Given the description of an element on the screen output the (x, y) to click on. 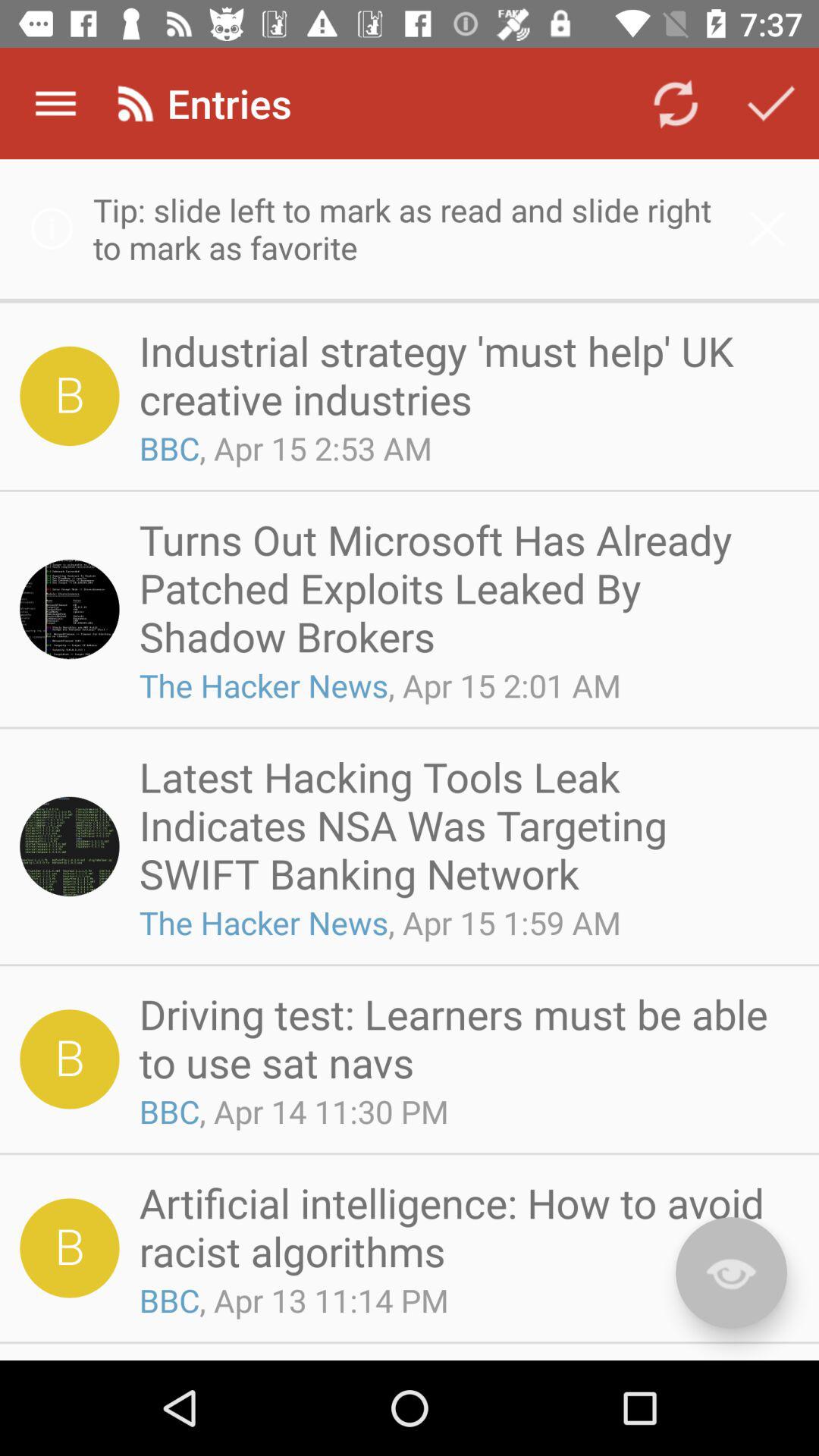
turn on the industrial strategy must (463, 374)
